Given the description of an element on the screen output the (x, y) to click on. 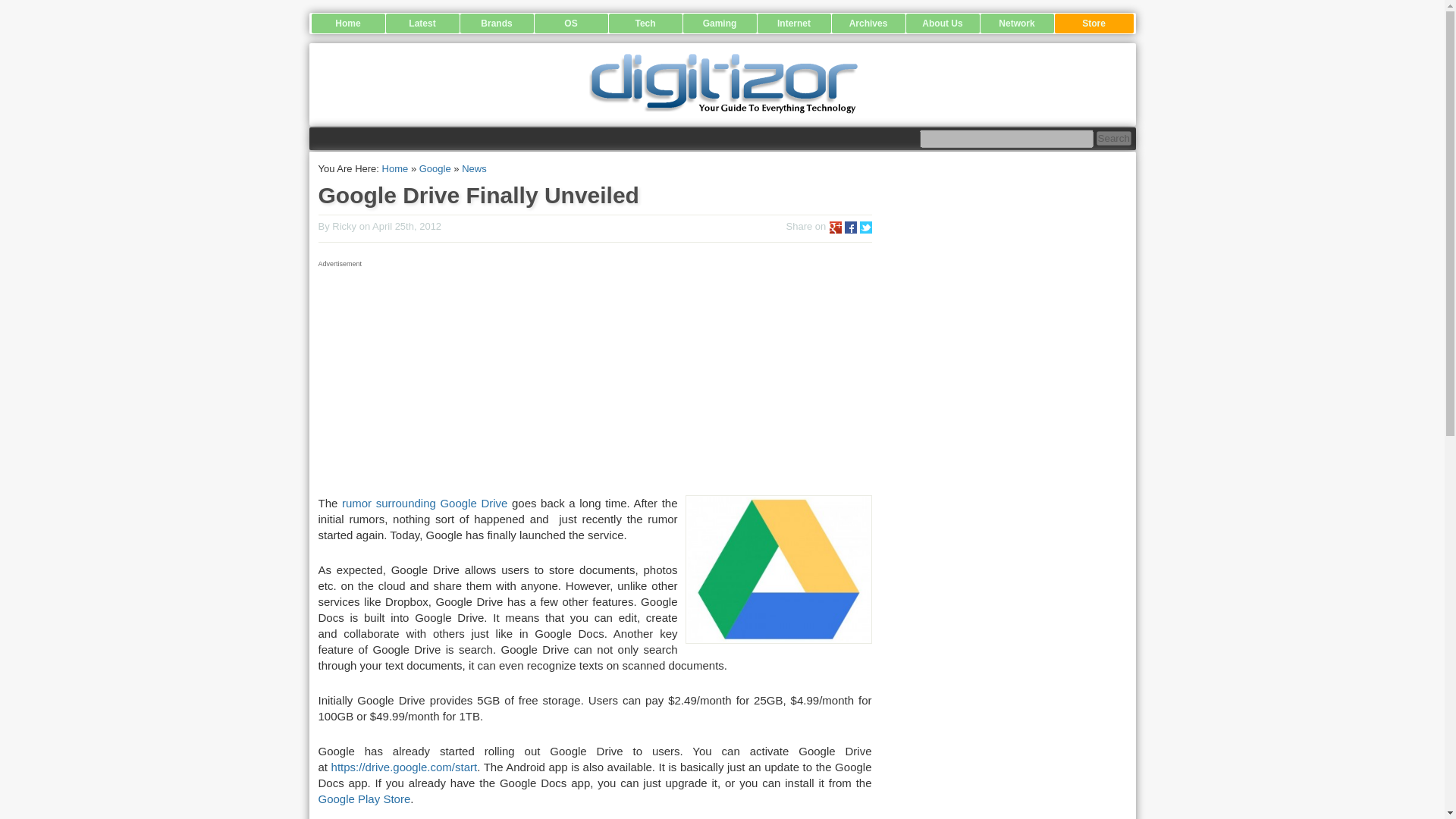
Gaming (718, 23)
News (473, 168)
OS (570, 23)
Advertisement (595, 377)
share on fb (850, 227)
Google (435, 168)
Store (1093, 23)
share on gp (835, 227)
Network (1015, 23)
rumor surrounding Google Drive (421, 502)
